Given the description of an element on the screen output the (x, y) to click on. 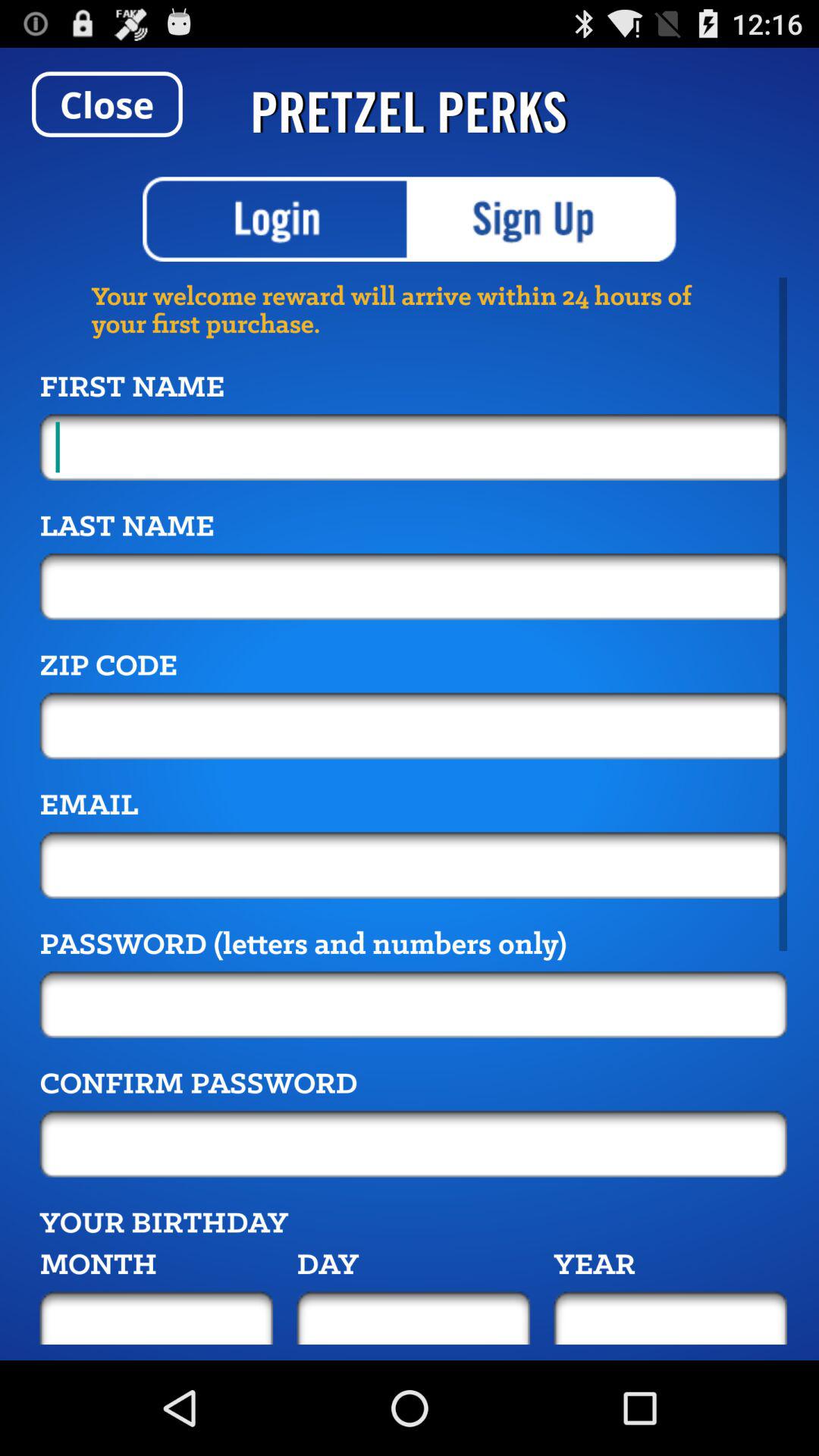
password text bar (413, 1143)
